Given the description of an element on the screen output the (x, y) to click on. 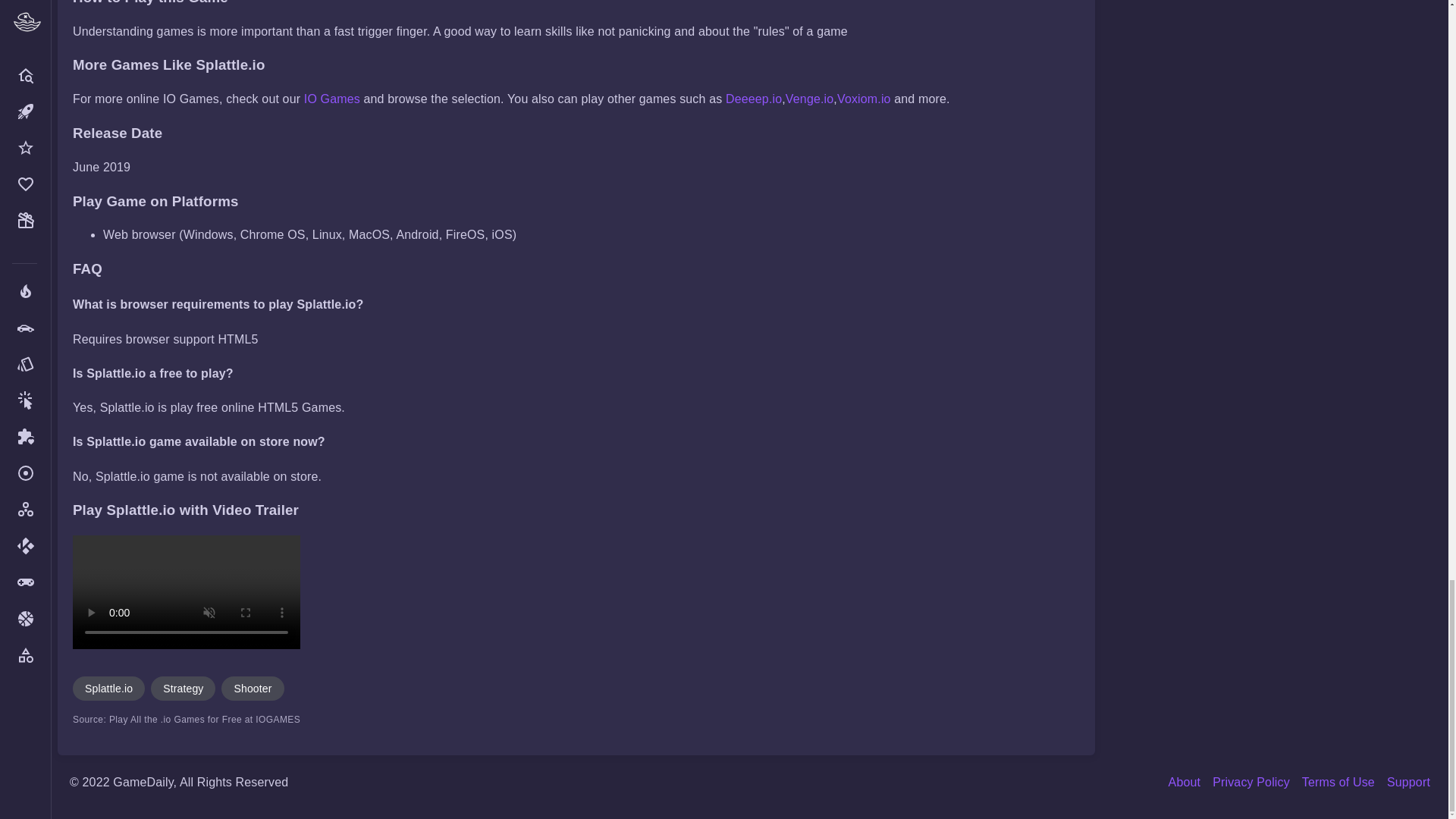
Splattle.io (108, 688)
Voxiom.io (864, 98)
Shooter (252, 688)
Deeeep.io (753, 98)
IO Games (331, 98)
Venge.io (809, 98)
Strategy (183, 688)
